Given the description of an element on the screen output the (x, y) to click on. 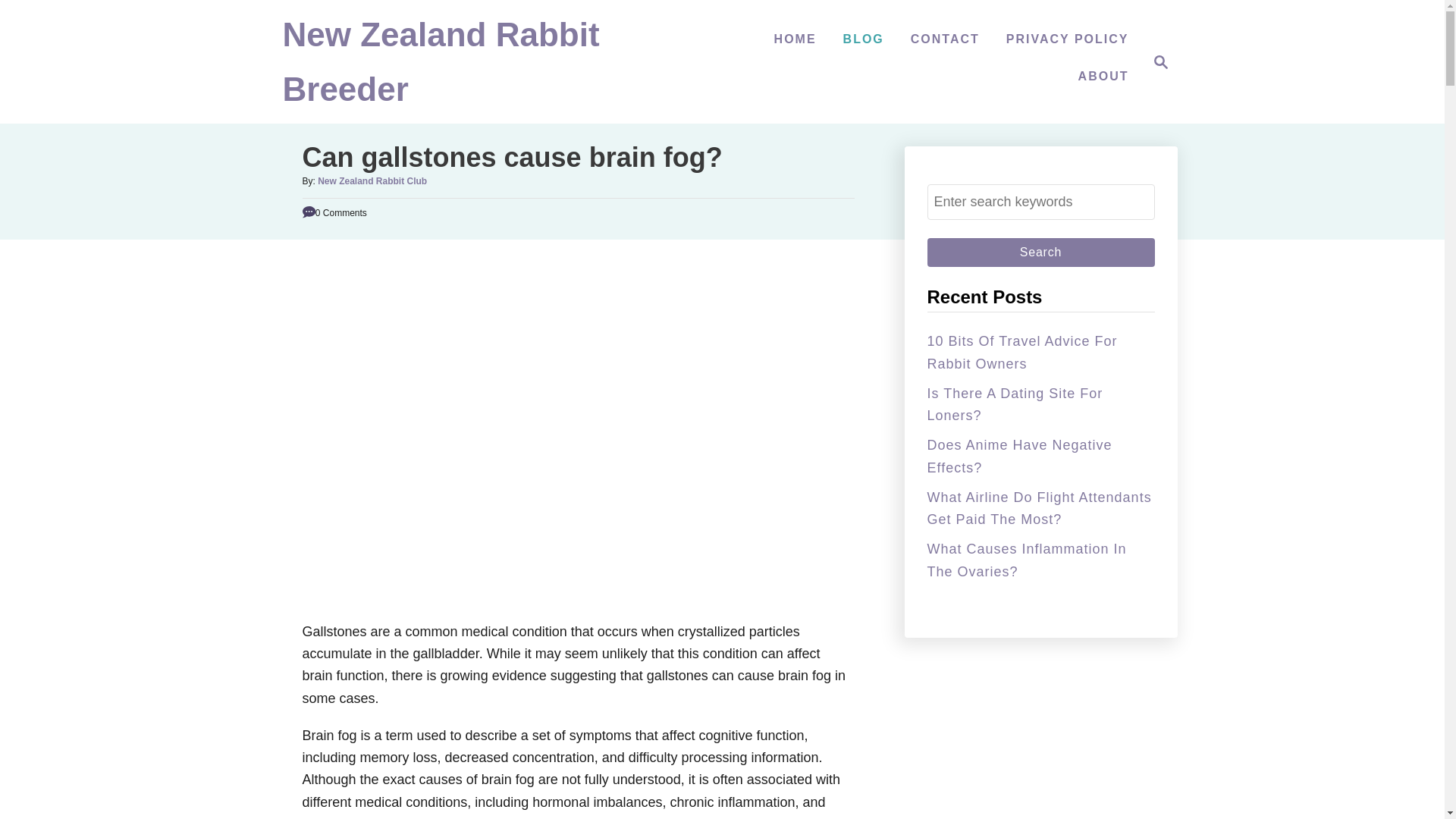
Search (1040, 252)
BLOG (863, 39)
PRIVACY POLICY (1067, 39)
What Airline Do Flight Attendants Get Paid The Most? (1038, 508)
Magnifying Glass (1160, 62)
New Zealand Rabbit Breeder (440, 69)
Search (1155, 61)
New Zealand Rabbit Breeder (1040, 252)
